Given the description of an element on the screen output the (x, y) to click on. 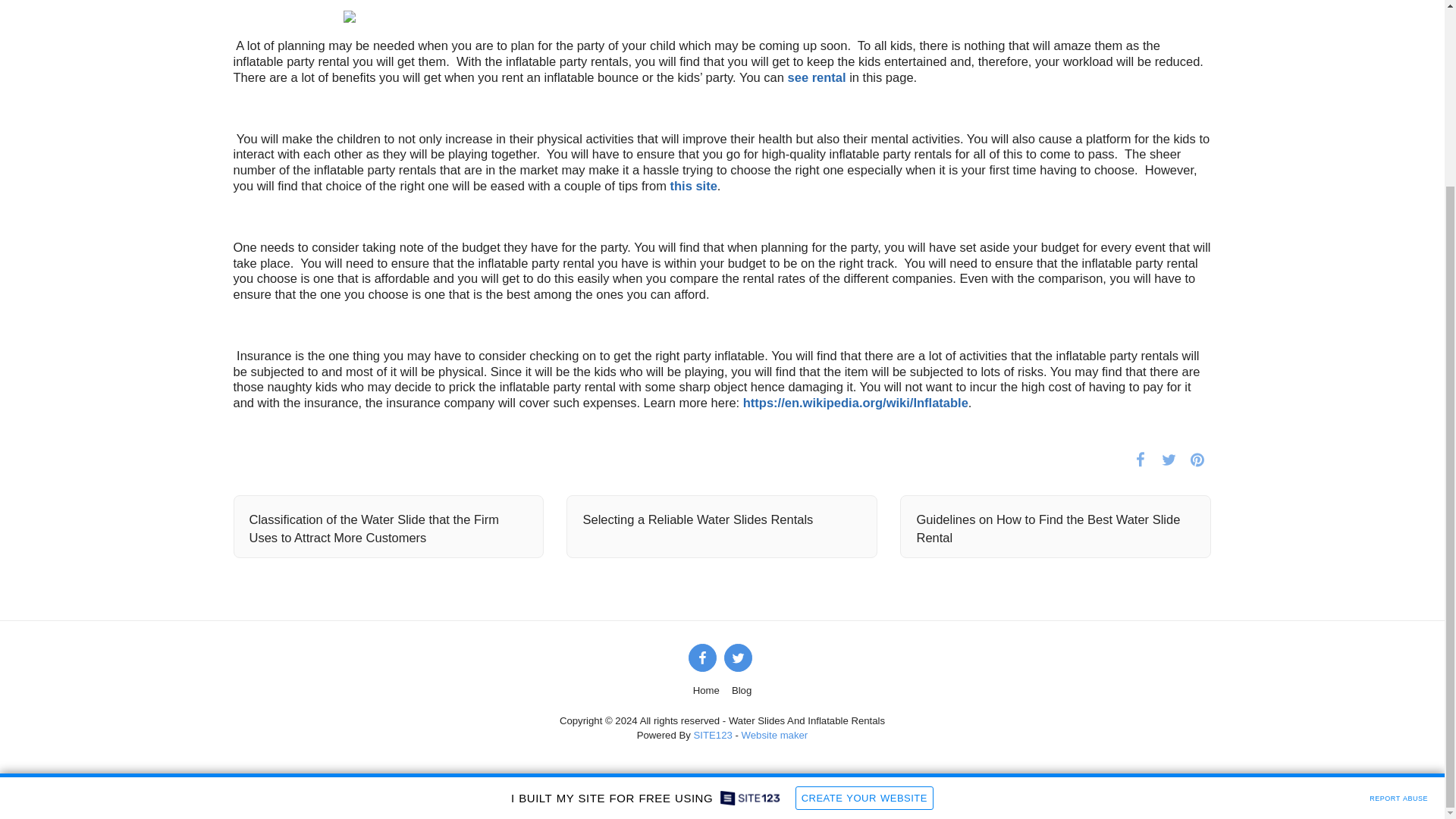
Blog (741, 690)
see rental (816, 77)
Share on Facebook (1139, 459)
Website maker (774, 735)
Guidelines on How to Find the Best Water Slide Rental (1055, 529)
Pin it (1196, 459)
this site (692, 185)
Home (706, 690)
Selecting a Reliable Water Slides Rentals (721, 520)
